Given the description of an element on the screen output the (x, y) to click on. 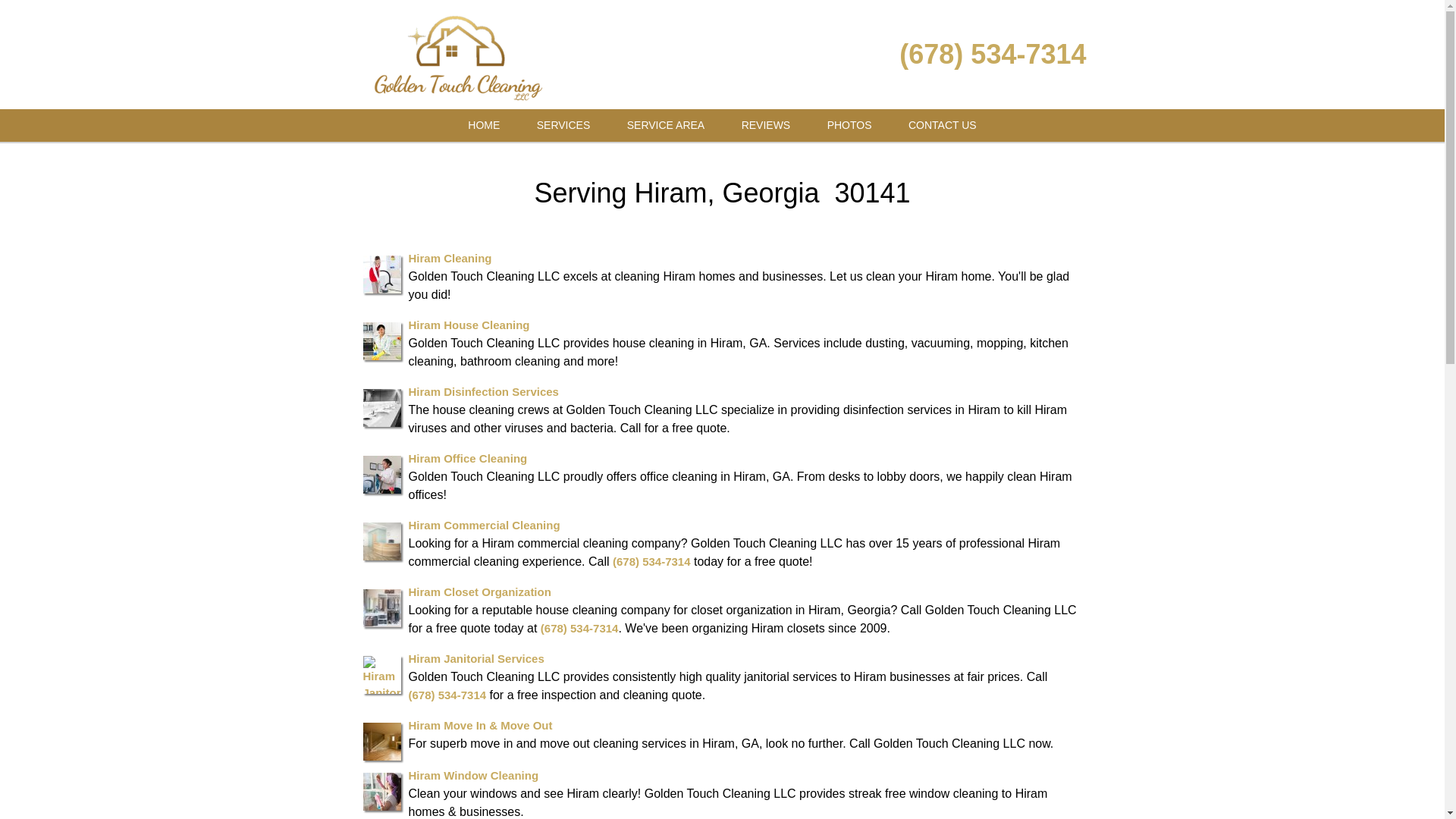
SERVICE AREA (665, 124)
Hiram Window Cleaning (472, 775)
SERVICES (563, 124)
CONTACT US (941, 124)
Hiram Janitorial Services (475, 658)
REVIEWS (766, 124)
Hiram Disinfection Services (482, 391)
Hiram Closet Organization (478, 591)
Hiram Cleaning (449, 257)
PHOTOS (849, 124)
